Given the description of an element on the screen output the (x, y) to click on. 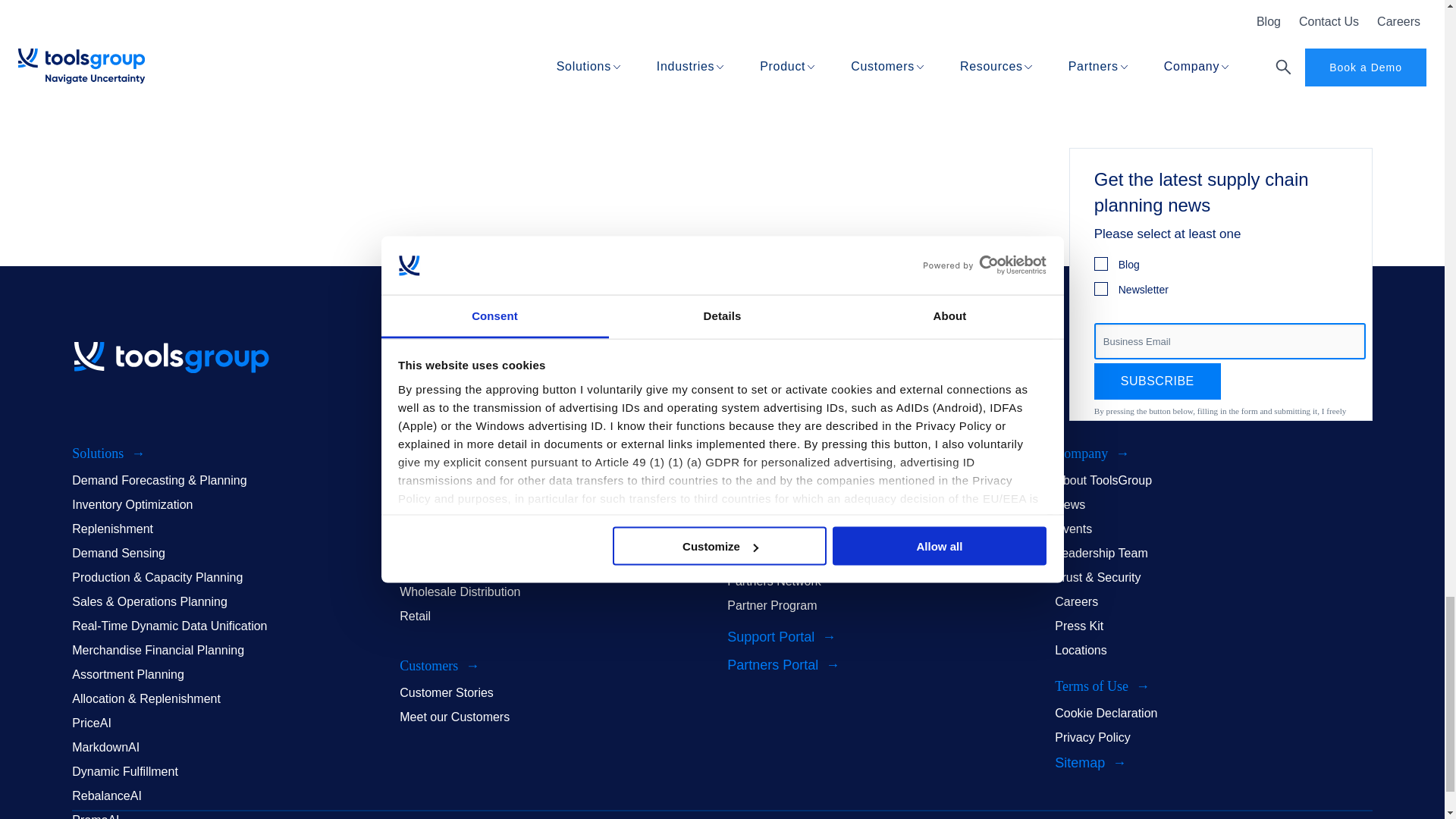
Subscribe (1157, 381)
